Given the description of an element on the screen output the (x, y) to click on. 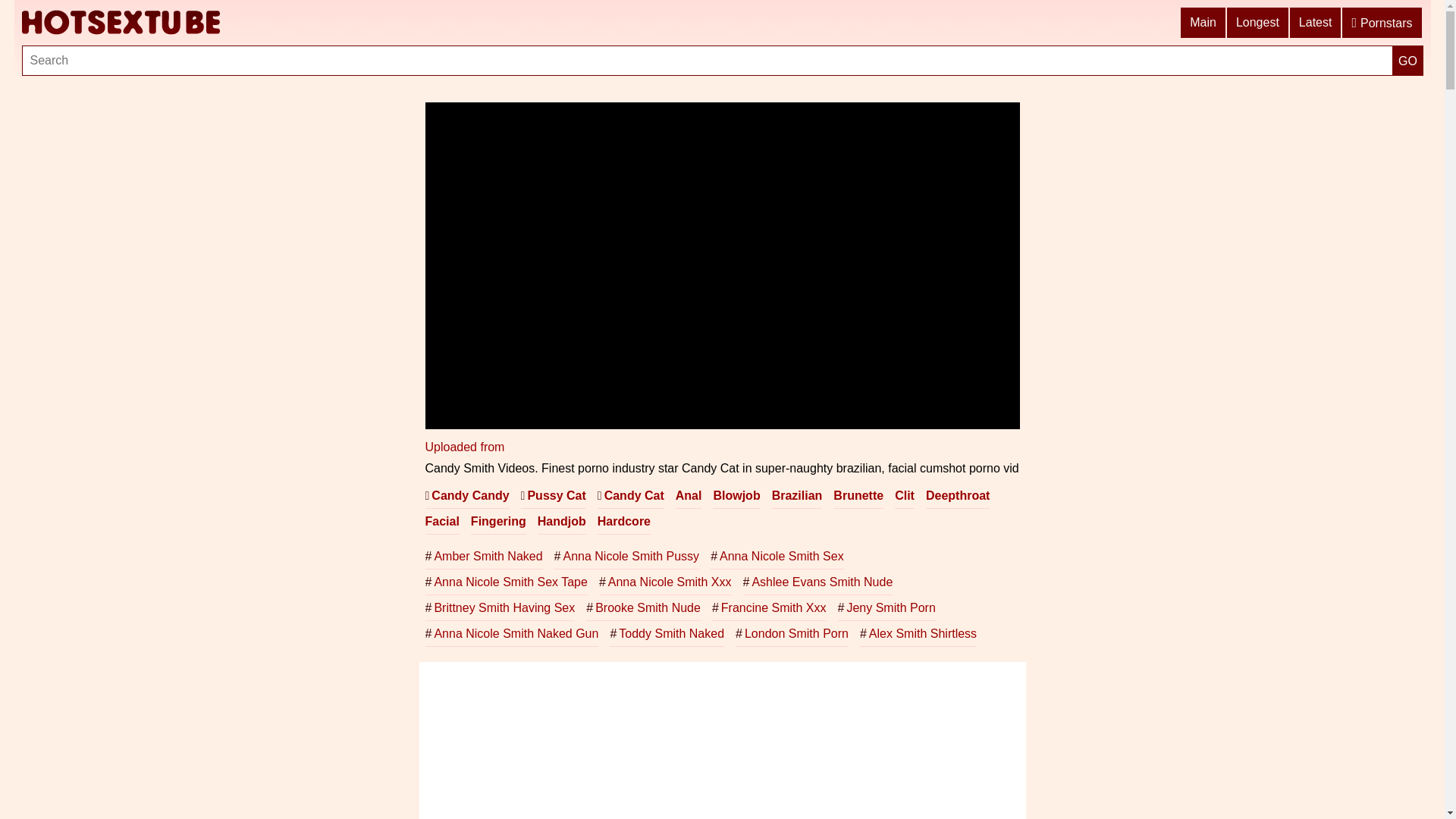
Hardcore Element type: text (623, 521)
Anna Nicole Smith Sex Tape Element type: text (505, 582)
Clit Element type: text (904, 495)
Latest Element type: text (1316, 22)
Anna Nicole Smith Naked Gun Element type: text (511, 633)
Hot sex tube Element type: hover (120, 22)
Anal Element type: text (688, 495)
Alex Smith Shirtless Element type: text (917, 633)
Brunette Element type: text (858, 495)
Fingering Element type: text (498, 521)
GO Element type: text (1407, 60)
Main Element type: text (1203, 22)
Brooke Smith Nude Element type: text (643, 608)
Deepthroat Element type: text (957, 495)
Ashlee Evans Smith Nude Element type: text (818, 582)
Brazilian Element type: text (796, 495)
Longest Element type: text (1257, 22)
Anna Nicole Smith Pussy Element type: text (626, 556)
Anna Nicole Smith Sex Element type: text (777, 556)
Candy Candy Element type: text (466, 495)
Facial Element type: text (441, 521)
Pussy Cat Element type: text (553, 495)
Blowjob Element type: text (735, 495)
London Smith Porn Element type: text (791, 633)
Uploaded from Element type: text (464, 446)
Francine Smith Xxx Element type: text (769, 608)
Pornstars Element type: text (1382, 22)
Candy Cat Element type: text (630, 495)
Toddy Smith Naked Element type: text (666, 633)
Anna Nicole Smith Xxx Element type: text (665, 582)
Amber Smith Naked Element type: text (483, 556)
Handjob Element type: text (561, 521)
Brittney Smith Having Sex Element type: text (499, 608)
Jeny Smith Porn Element type: text (886, 608)
